Given the description of an element on the screen output the (x, y) to click on. 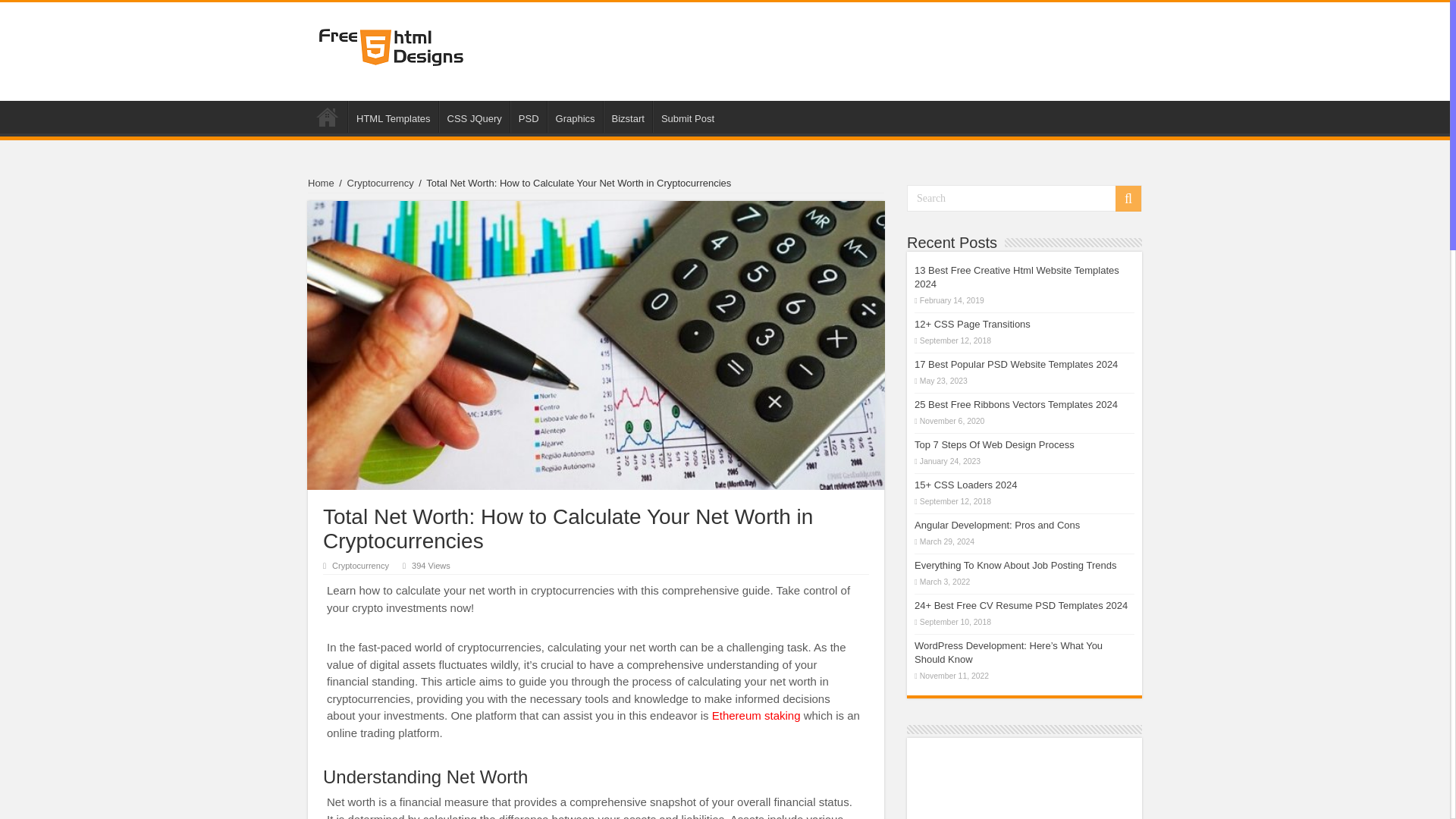
Ethereum staking (755, 715)
PSD (529, 116)
Bizstart (628, 116)
Home (327, 116)
Submit Post (687, 116)
Cryptocurrency (359, 565)
CSS JQuery (474, 116)
Graphics (574, 116)
Cryptocurrency (380, 183)
Search (1024, 198)
